Given the description of an element on the screen output the (x, y) to click on. 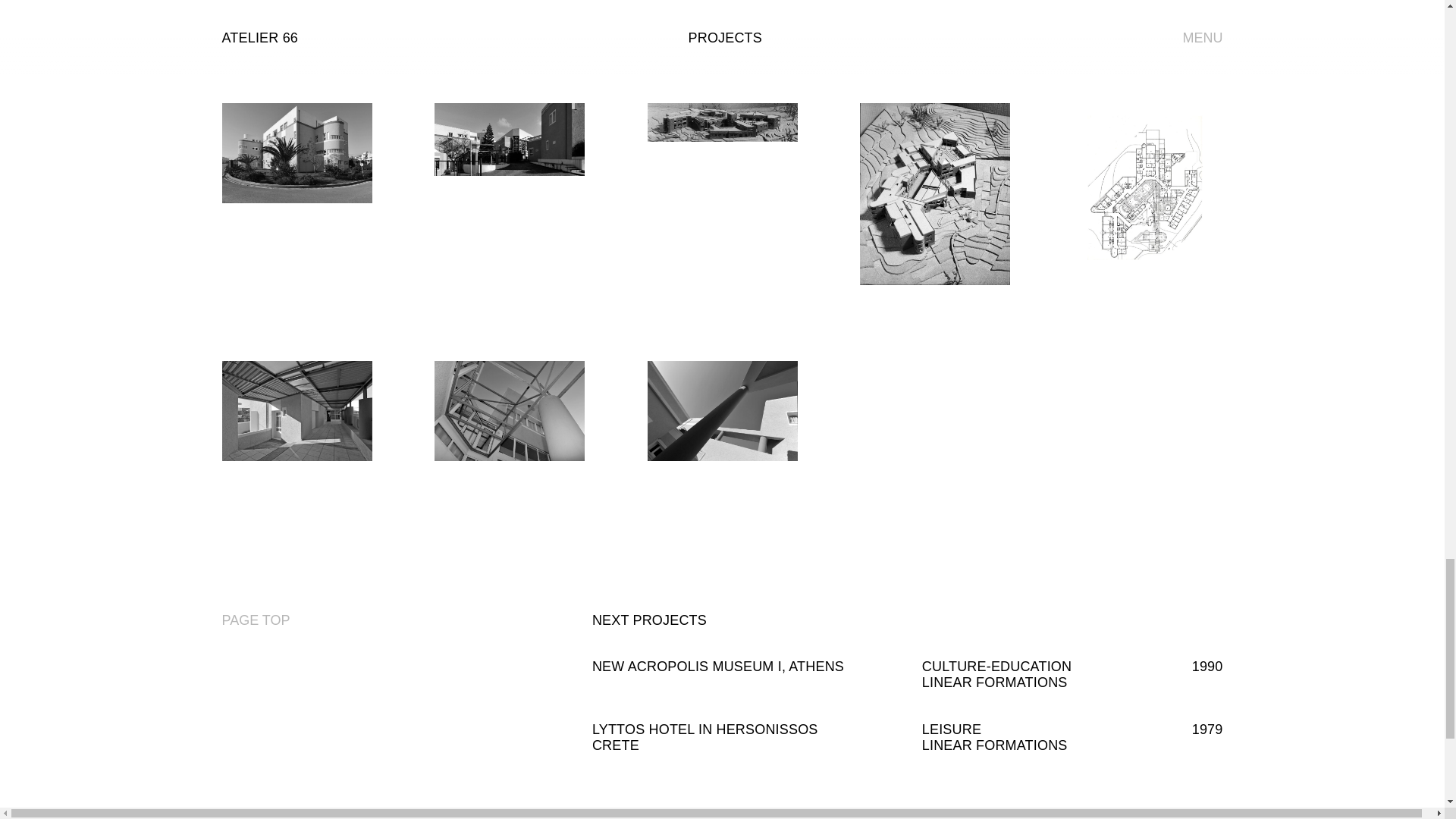
PAGE TOP (255, 620)
PAGE TOP (255, 620)
